Given the description of an element on the screen output the (x, y) to click on. 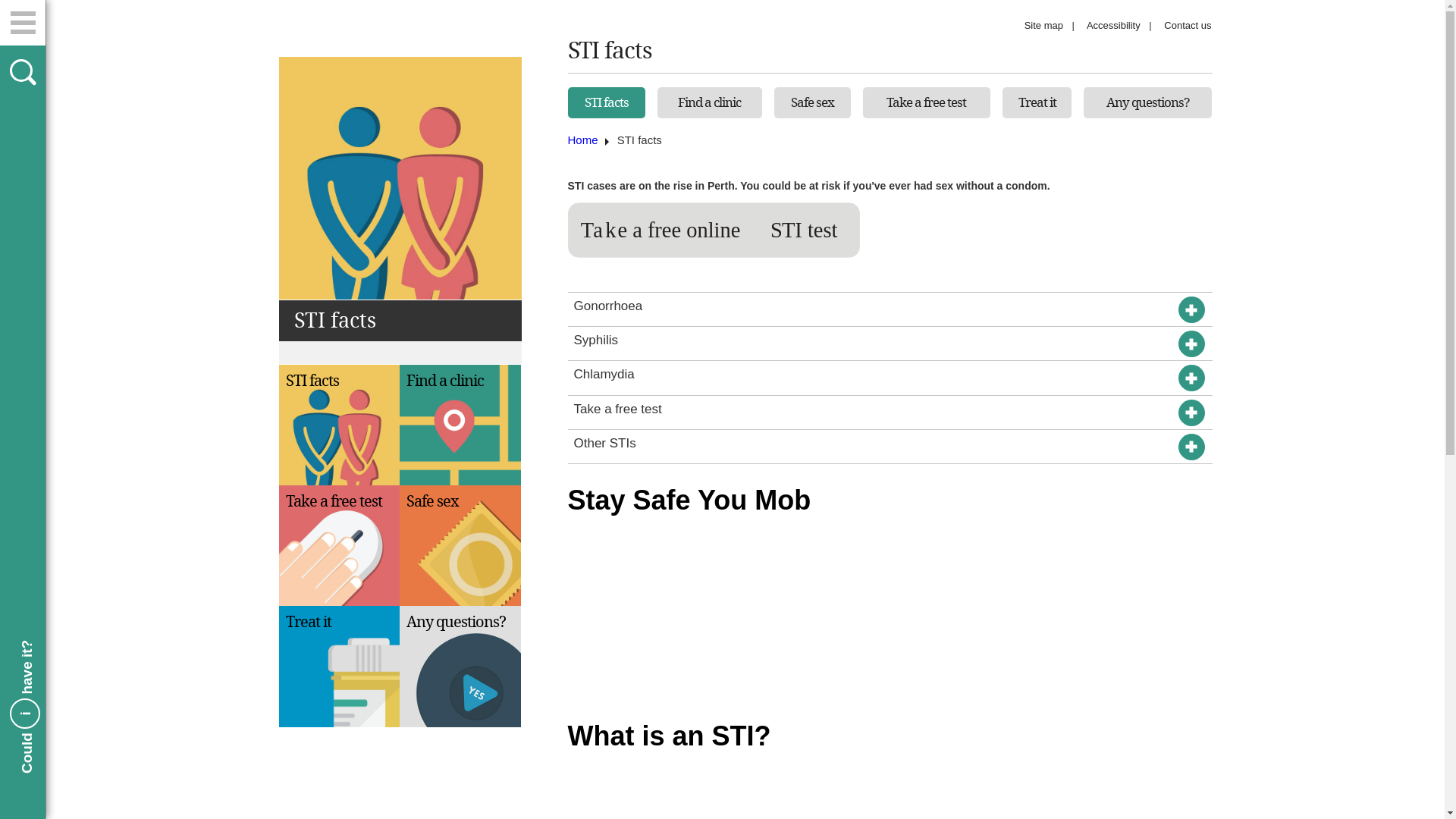
Menu Element type: text (22, 22)
Treat it Element type: text (339, 666)
Syphilis Element type: text (889, 343)
Treat it Element type: text (1036, 102)
Find a clinic Element type: text (459, 425)
Safe sex Element type: text (812, 102)
Safe sex Element type: text (459, 545)
Take a free test Element type: text (339, 545)
STI facts Element type: text (605, 102)
Any questions? Element type: text (459, 666)
Home Element type: text (582, 139)
Take a free test Element type: text (889, 412)
Other STIs Element type: text (889, 446)
Contact us Element type: text (1187, 25)
Any questions? Element type: text (1147, 102)
Find a clinic Element type: text (709, 102)
search open Element type: text (22, 71)
Site map Element type: text (1043, 25)
Could i have it? Element type: text (85, 647)
STI facts Element type: text (339, 425)
Take a free test Element type: text (926, 102)
Chlamydia Element type: text (889, 377)
Accessibility Element type: text (1113, 25)
Gonorrhoea Element type: text (889, 309)
